Given the description of an element on the screen output the (x, y) to click on. 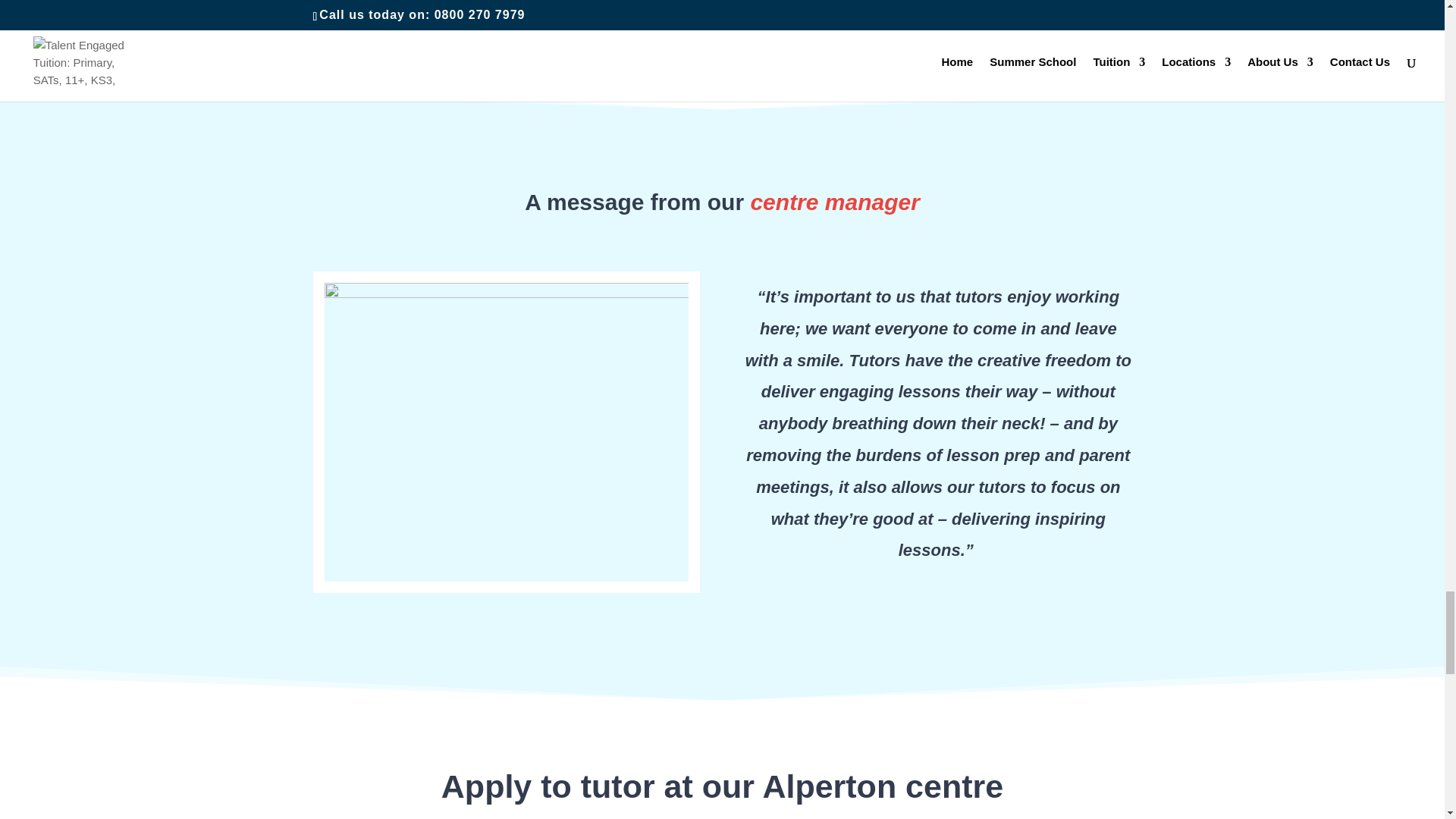
ABOUT ALPERTON (505, 6)
ABOUT SPARKHILL (939, 6)
